Given the description of an element on the screen output the (x, y) to click on. 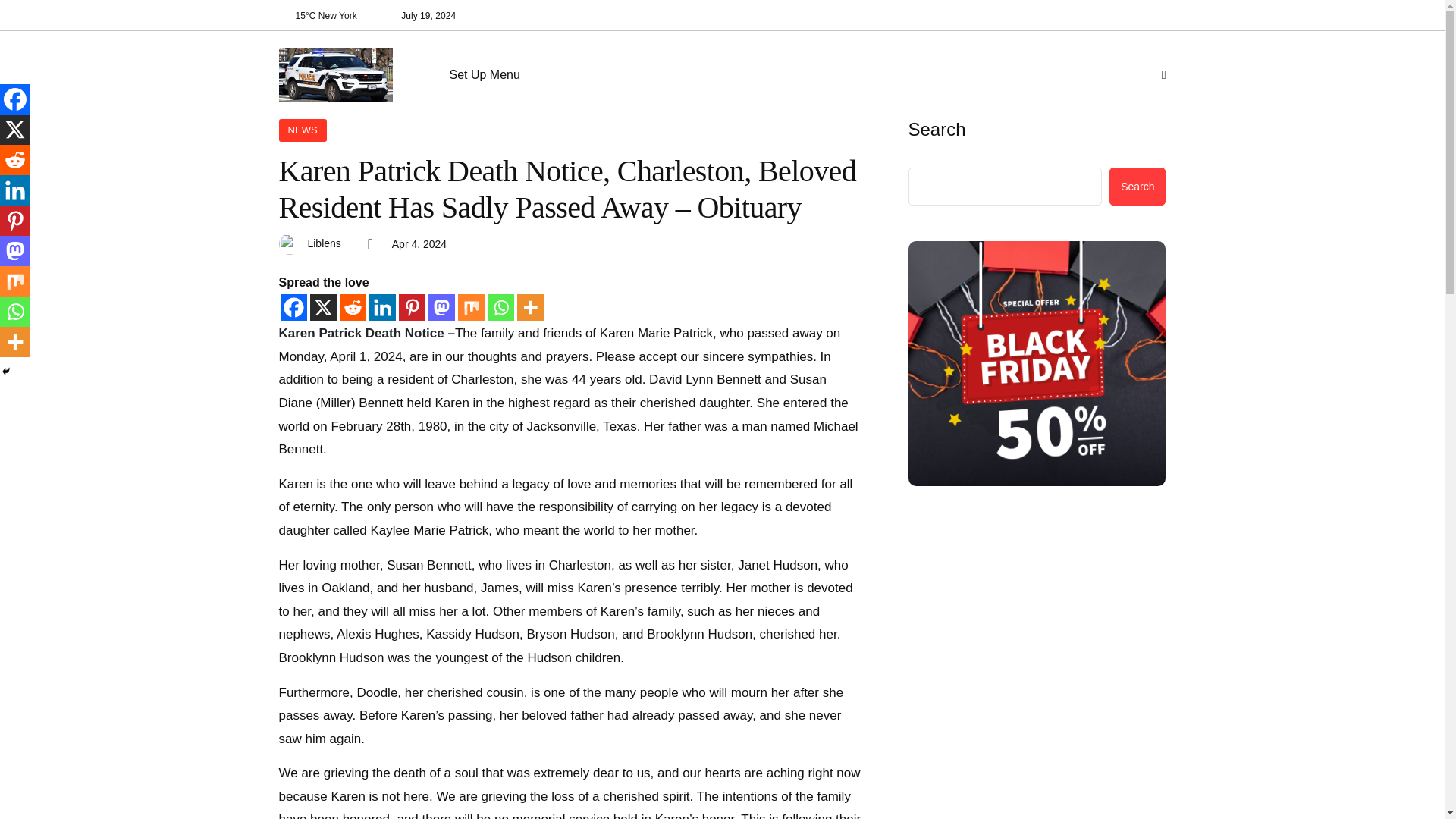
Set Up Menu (490, 75)
X (322, 307)
Mix (471, 307)
More (529, 307)
Mastodon (441, 307)
Liblens (323, 242)
Facebook (15, 99)
Linkedin (381, 307)
Reddit (352, 307)
Search (1137, 186)
Reddit (15, 159)
NEWS (302, 129)
Linkedin (15, 190)
Whatsapp (499, 307)
Facebook (294, 307)
